Given the description of an element on the screen output the (x, y) to click on. 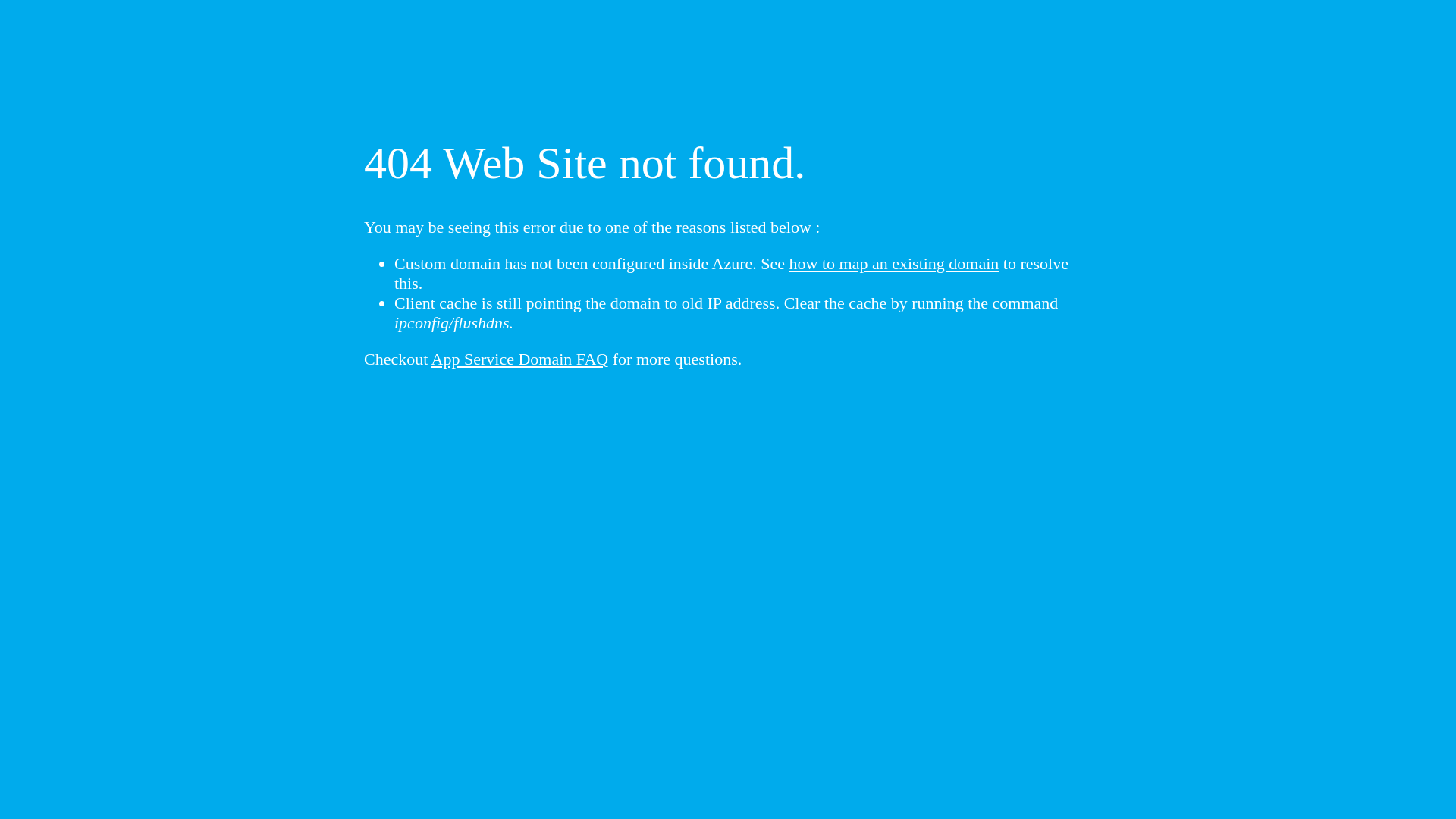
App Service Domain FAQ Element type: text (519, 358)
how to map an existing domain Element type: text (894, 263)
